Given the description of an element on the screen output the (x, y) to click on. 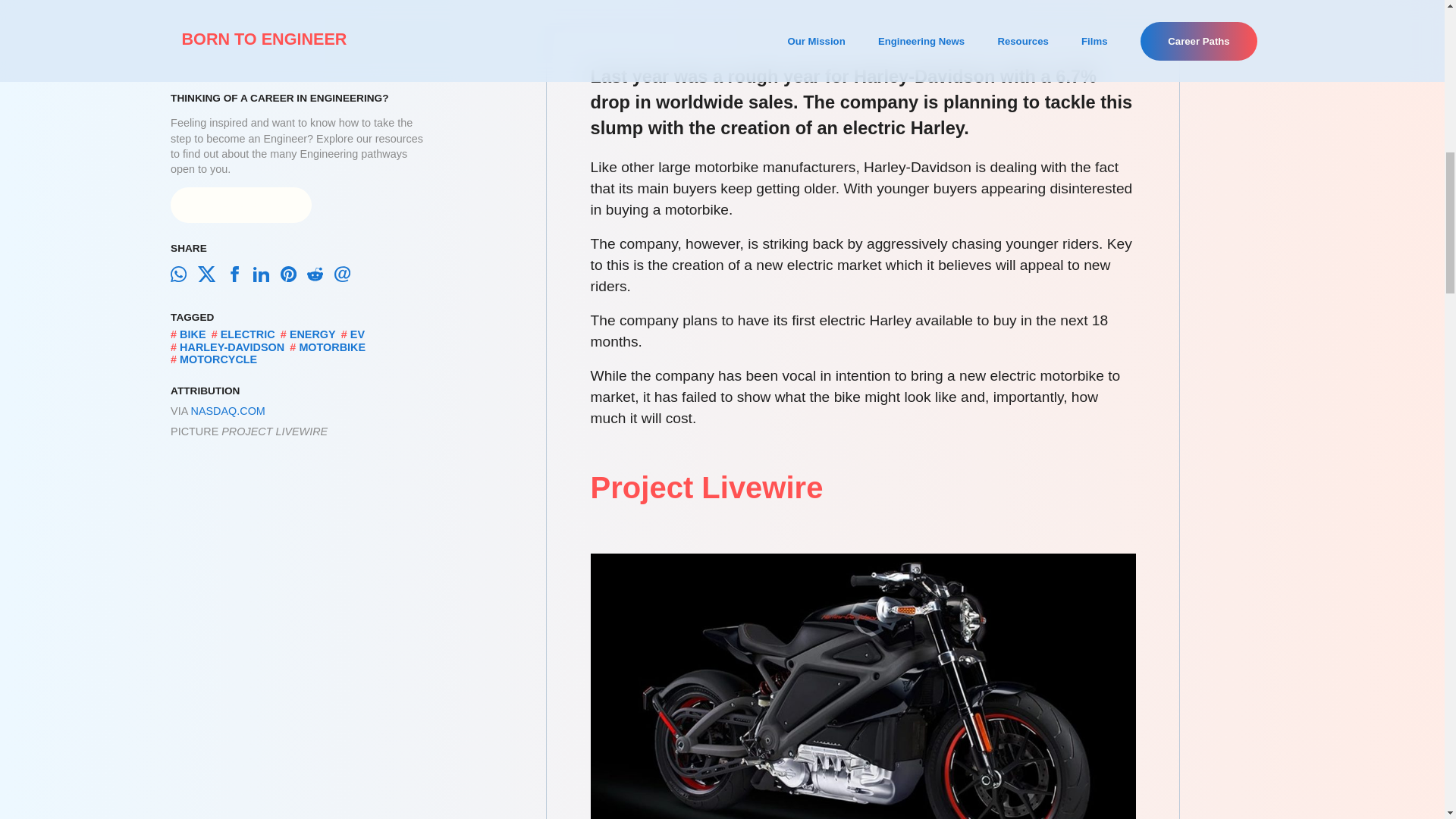
HARLEY-DAVIDSON (231, 284)
Take the next step (240, 141)
NASDAQ.COM (227, 347)
EV (357, 271)
MOTORBIKE (331, 284)
BIKE (192, 271)
MOTORCYCLE (218, 296)
ENERGY (312, 271)
ELECTRIC (248, 271)
